Given the description of an element on the screen output the (x, y) to click on. 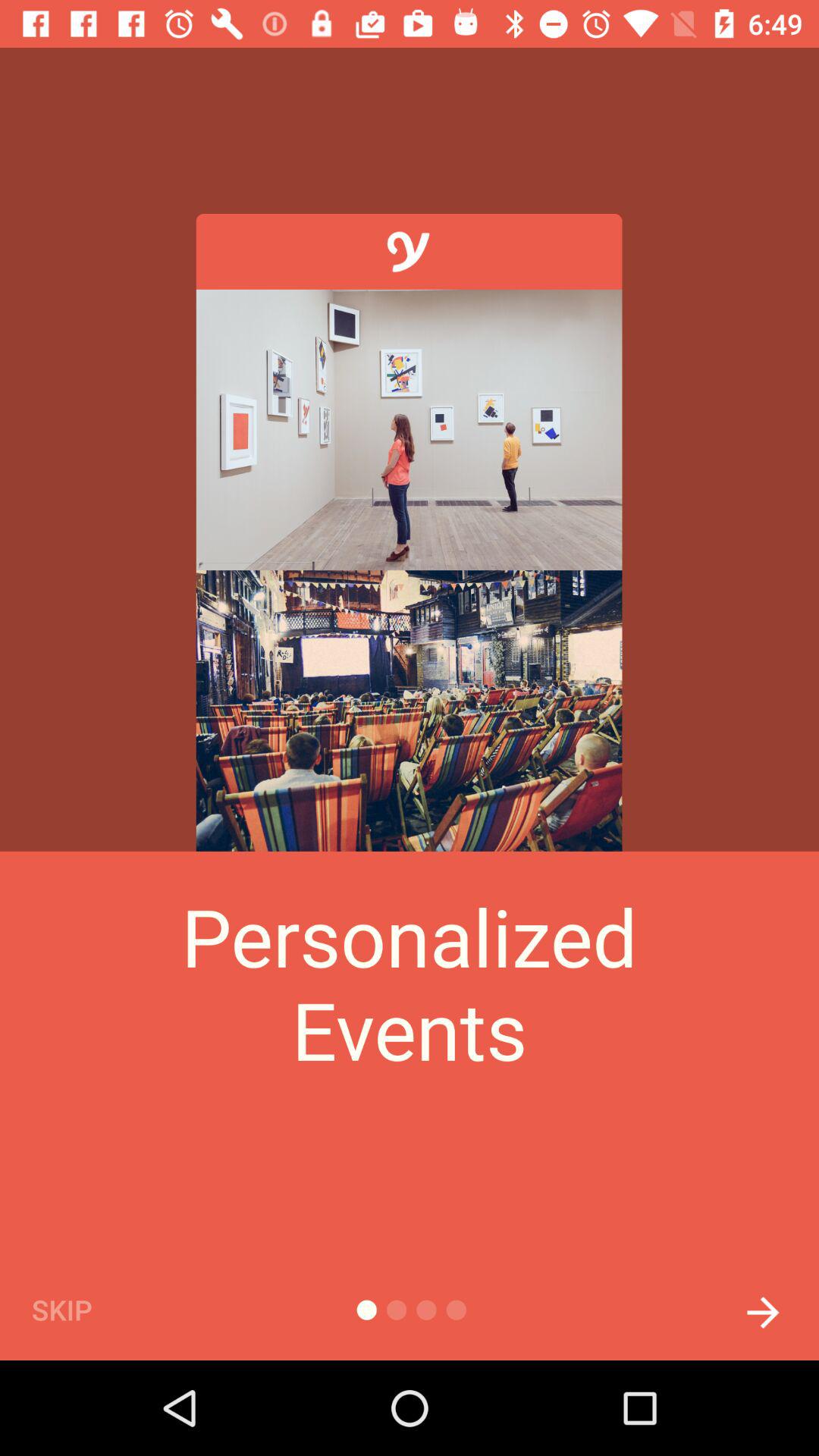
choose the item below the personalized
events item (87, 1309)
